Given the description of an element on the screen output the (x, y) to click on. 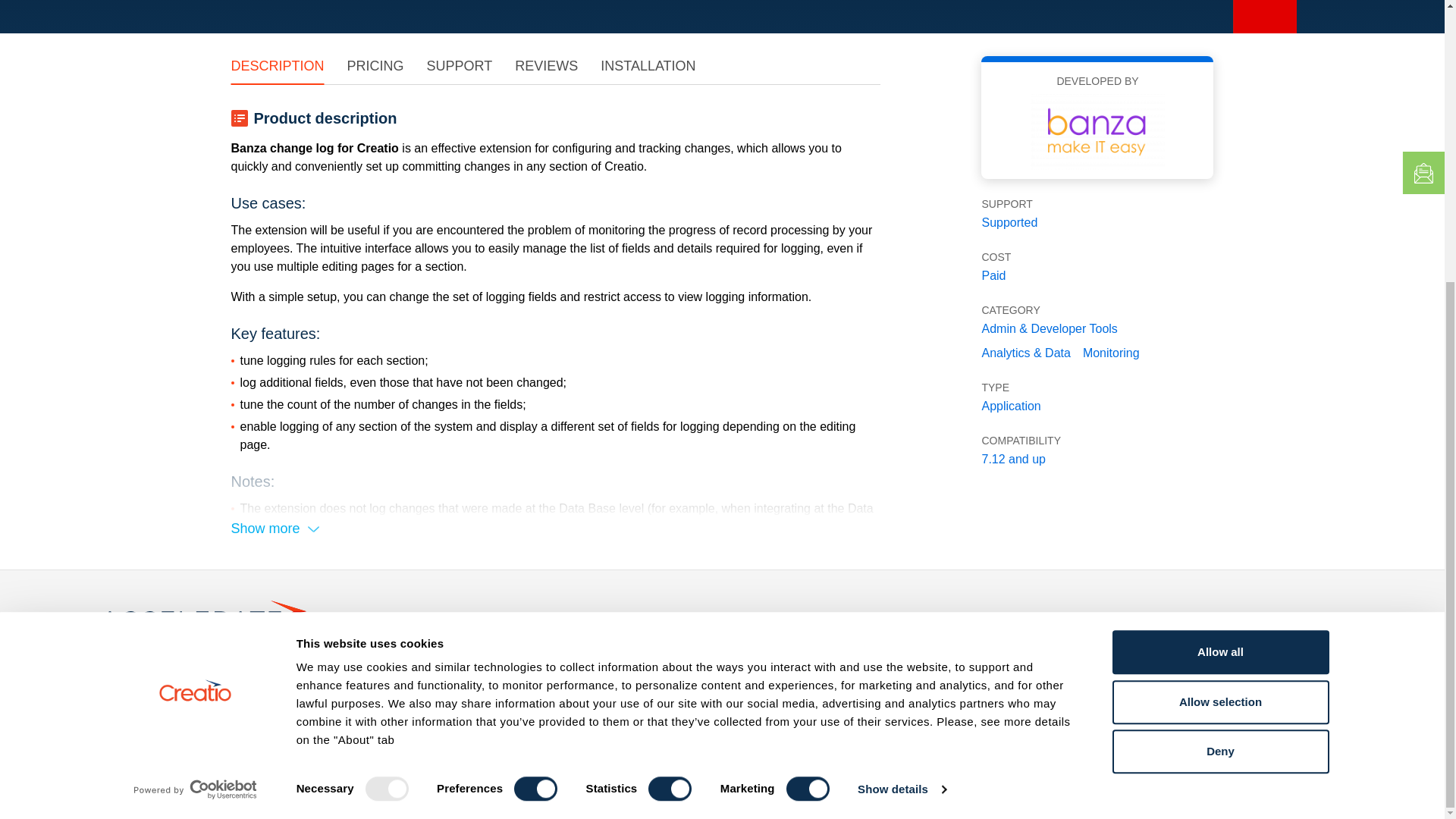
Show details (900, 367)
